Given the description of an element on the screen output the (x, y) to click on. 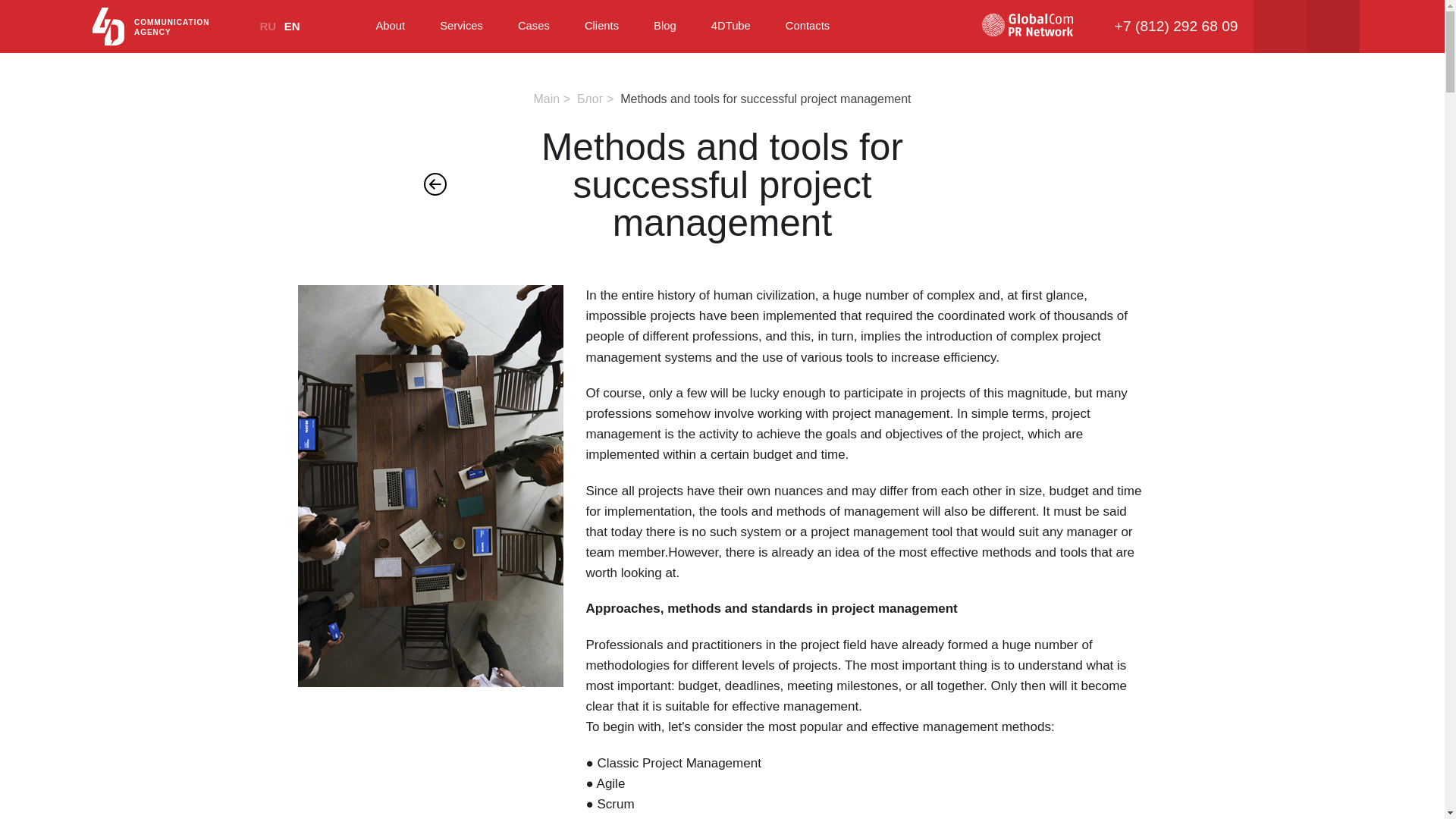
Clients (601, 26)
Cases (533, 26)
About (389, 26)
RU (267, 25)
4DTube (730, 26)
Contacts (808, 26)
Services (461, 26)
EN (291, 25)
